Given the description of an element on the screen output the (x, y) to click on. 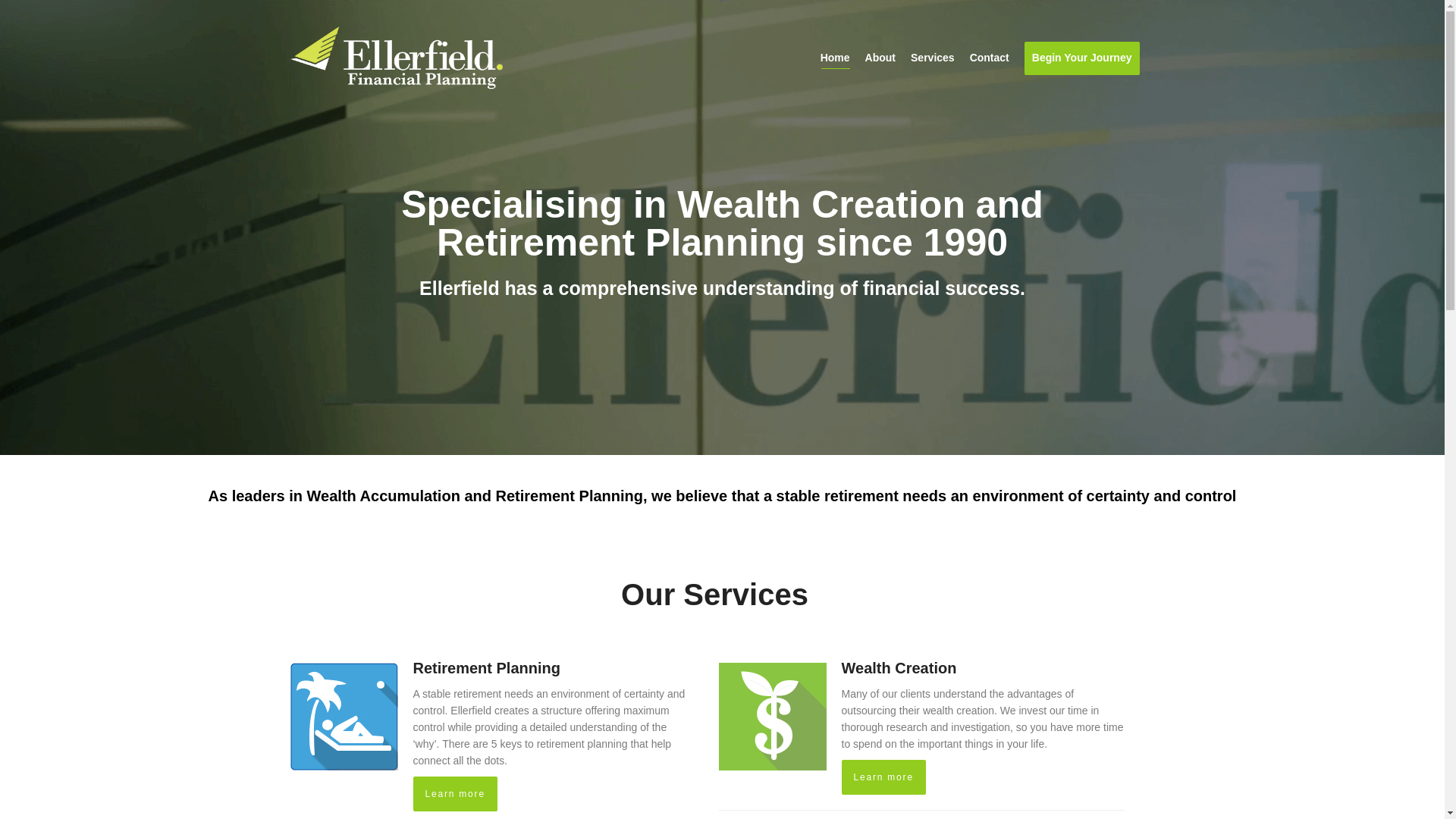
Home Element type: text (835, 58)
Learn more Element type: text (454, 793)
Begin Your Journey Element type: text (1081, 58)
Contact Element type: text (989, 58)
About Element type: text (880, 58)
Services Element type: text (932, 58)
Learn more Element type: text (883, 776)
